Given the description of an element on the screen output the (x, y) to click on. 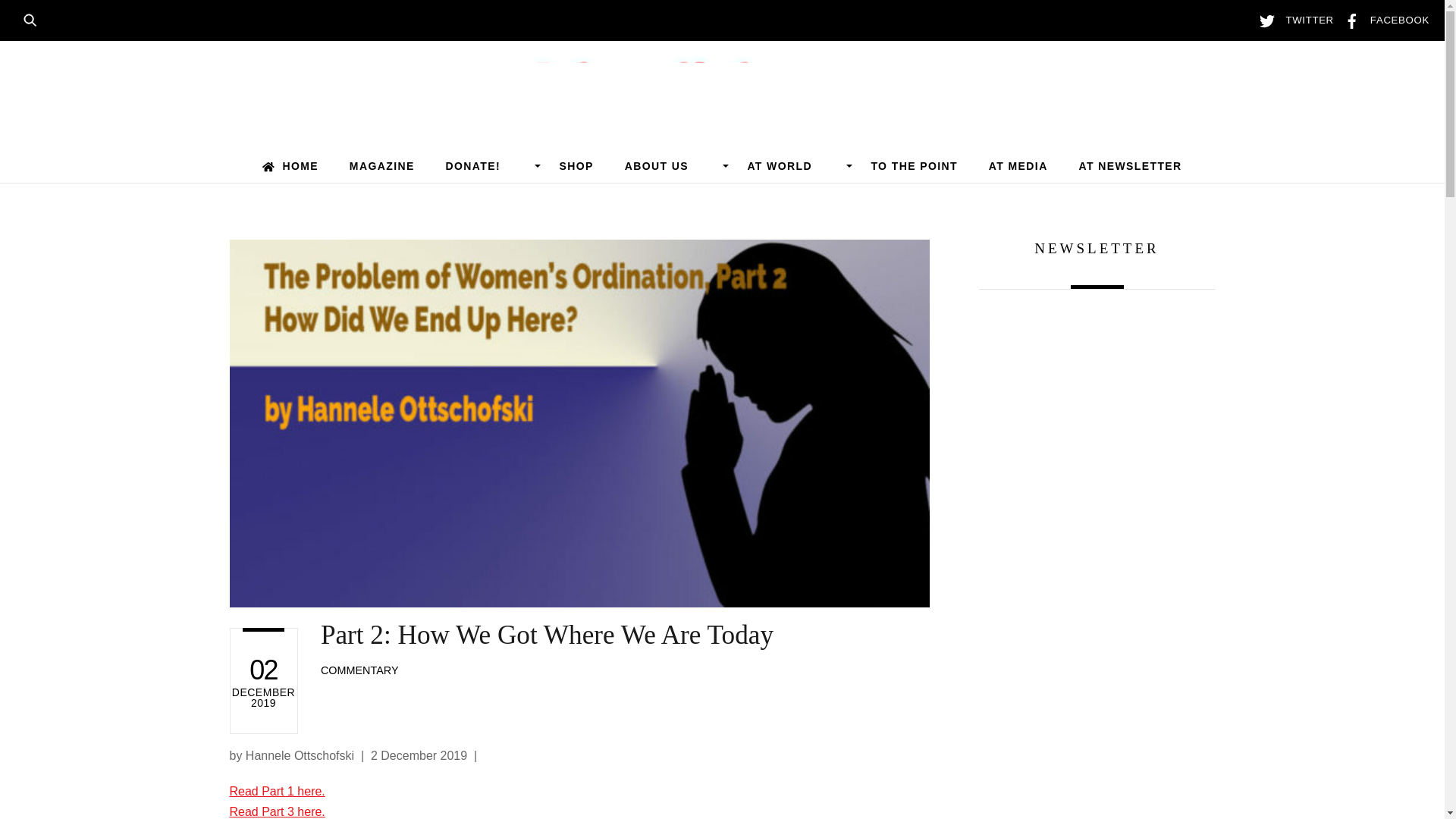
FACEBOOK (1382, 19)
COMMENTARY (359, 670)
MAGAZINE (381, 165)
Search (35, 18)
TWITTER (1292, 19)
SHOP (576, 165)
TO THE POINT (913, 165)
ABOUT US (669, 165)
